Given the description of an element on the screen output the (x, y) to click on. 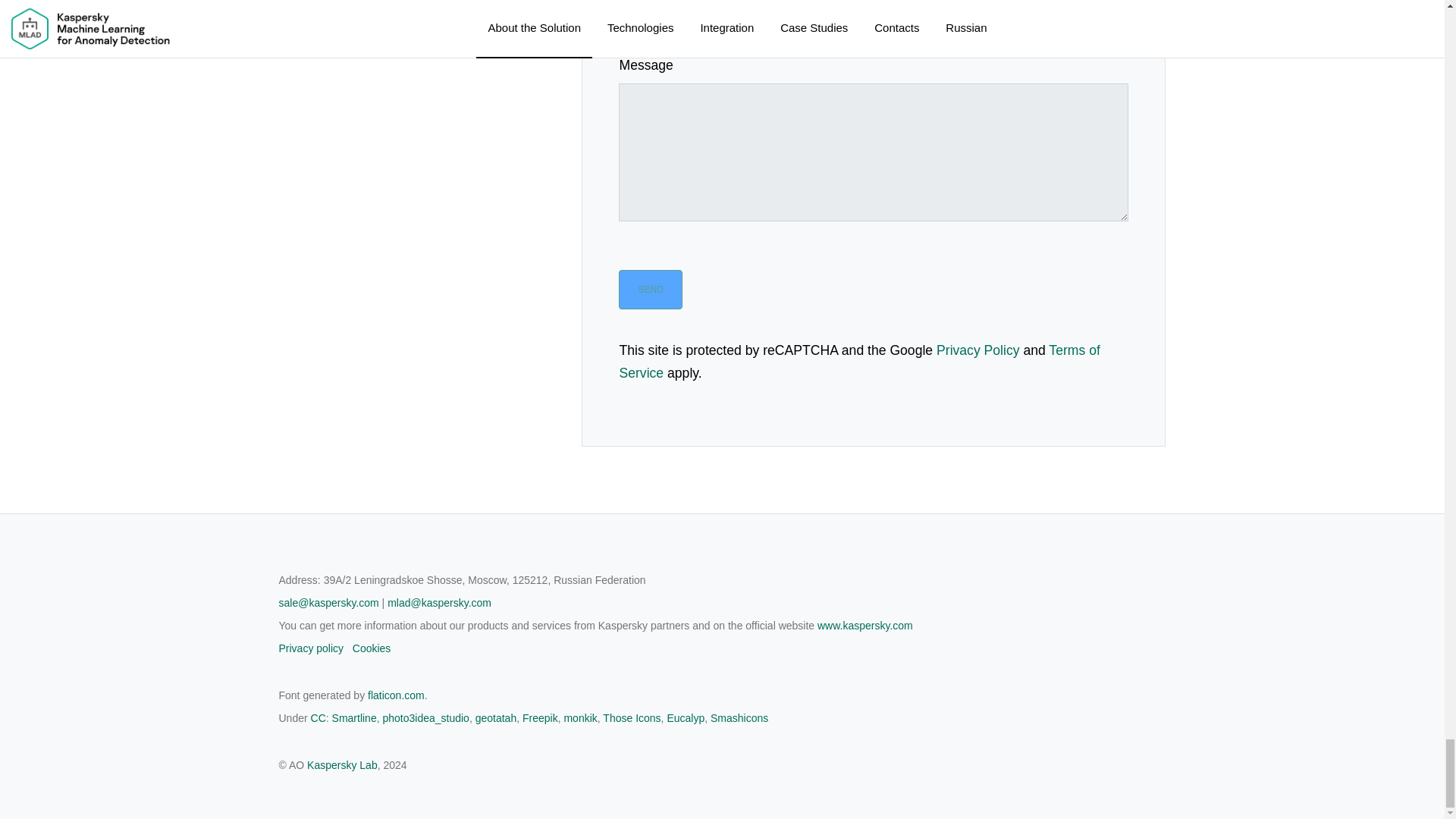
CC (318, 717)
Privacy Policy (978, 350)
Send (649, 289)
geotatah (496, 717)
Terms of Service (858, 361)
Eucalyp (685, 717)
Cookies (371, 648)
Smartline (354, 717)
Freepik (539, 717)
Privacy policy (311, 648)
